Given the description of an element on the screen output the (x, y) to click on. 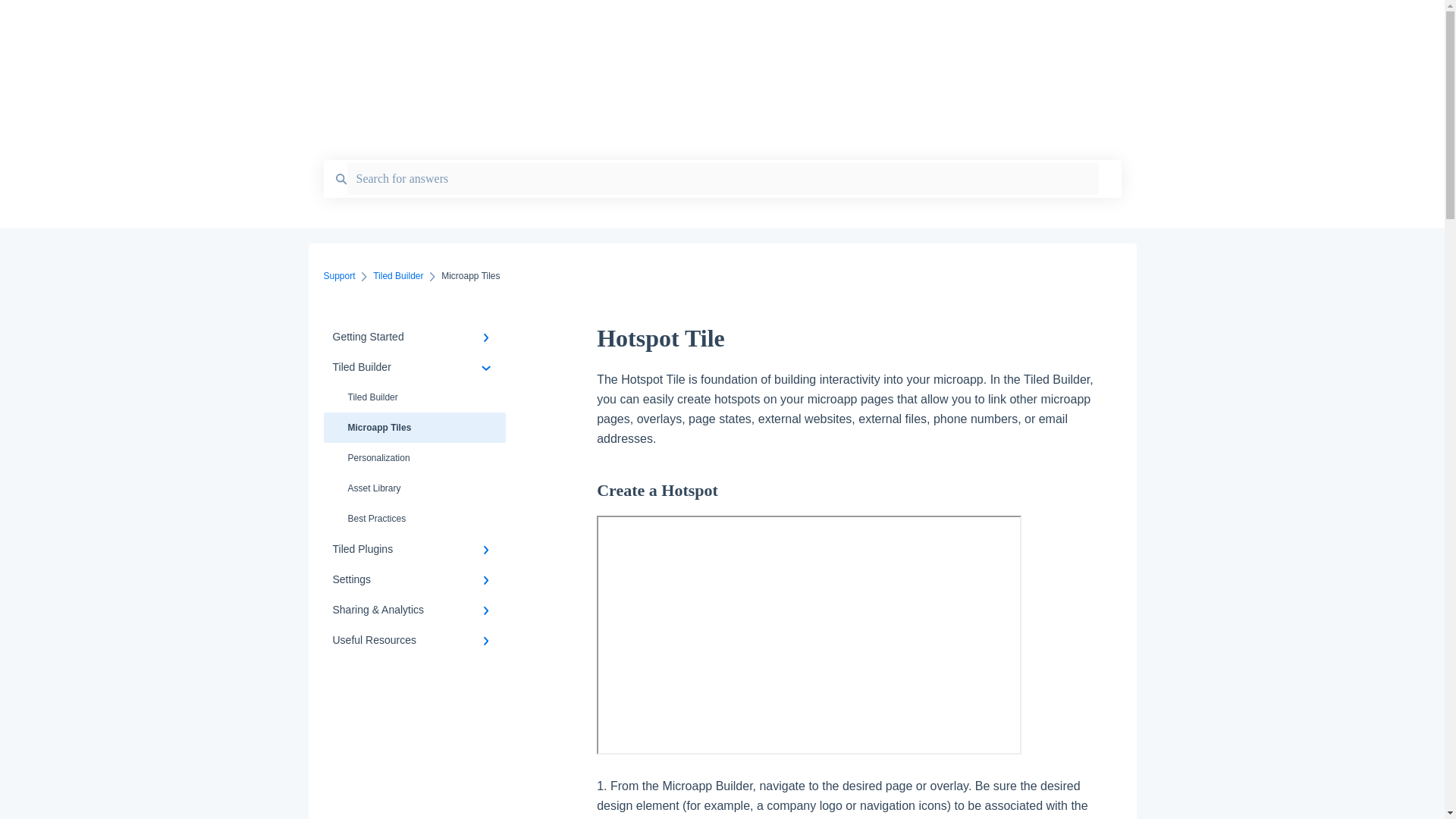
Support (339, 276)
Getting Started (414, 336)
Submit a request (1073, 25)
Tiled Builder (397, 276)
Support (720, 21)
